Given the description of an element on the screen output the (x, y) to click on. 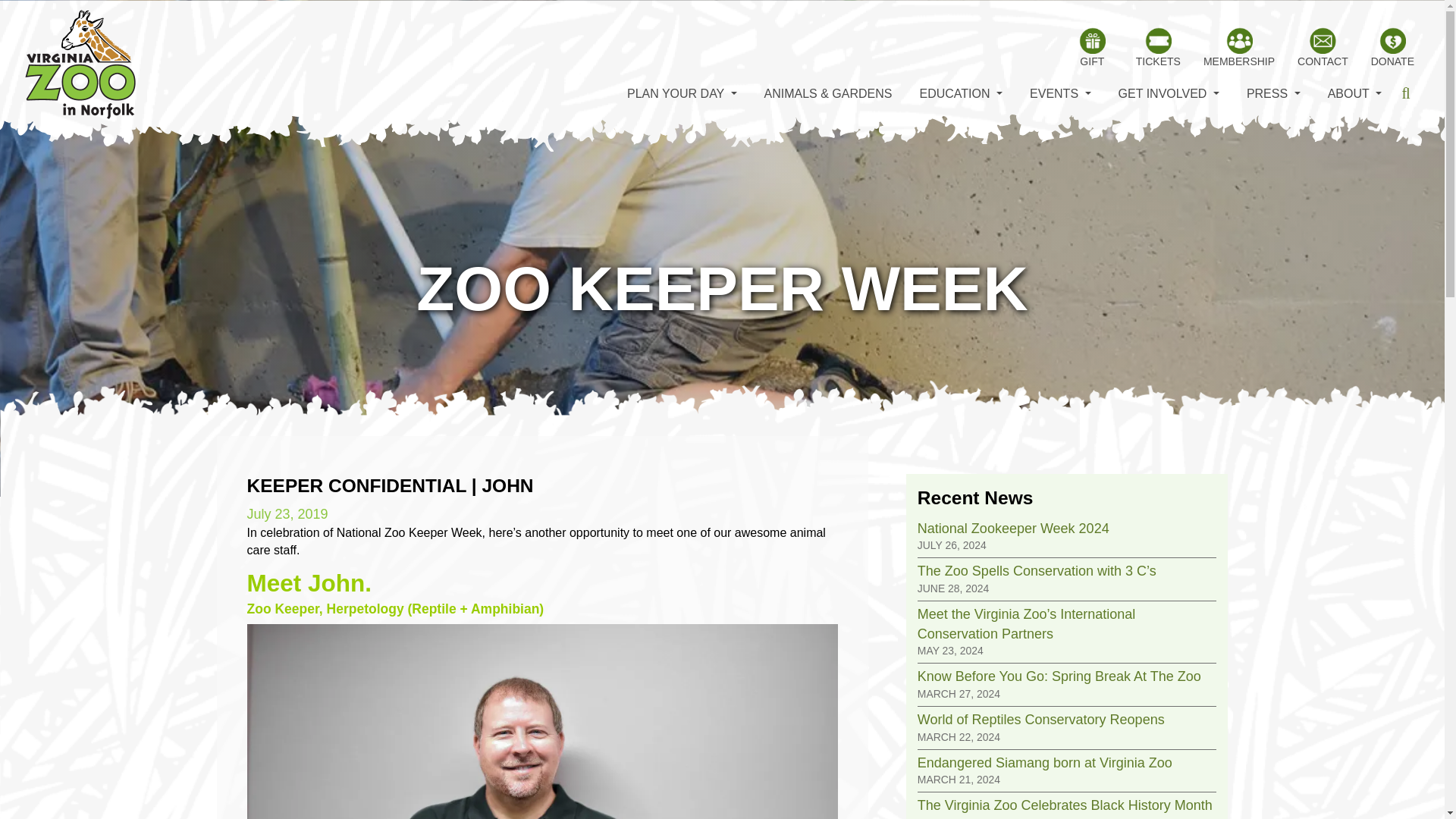
TICKETS (1157, 47)
PLAN YOUR DAY (681, 93)
EVENTS (1060, 93)
EDUCATION (960, 93)
PRESS (1273, 93)
GIFT (1092, 47)
DONATE (1392, 47)
MEMBERSHIP (1239, 47)
GET INVOLVED (1168, 93)
CONTACT (1322, 47)
